Given the description of an element on the screen output the (x, y) to click on. 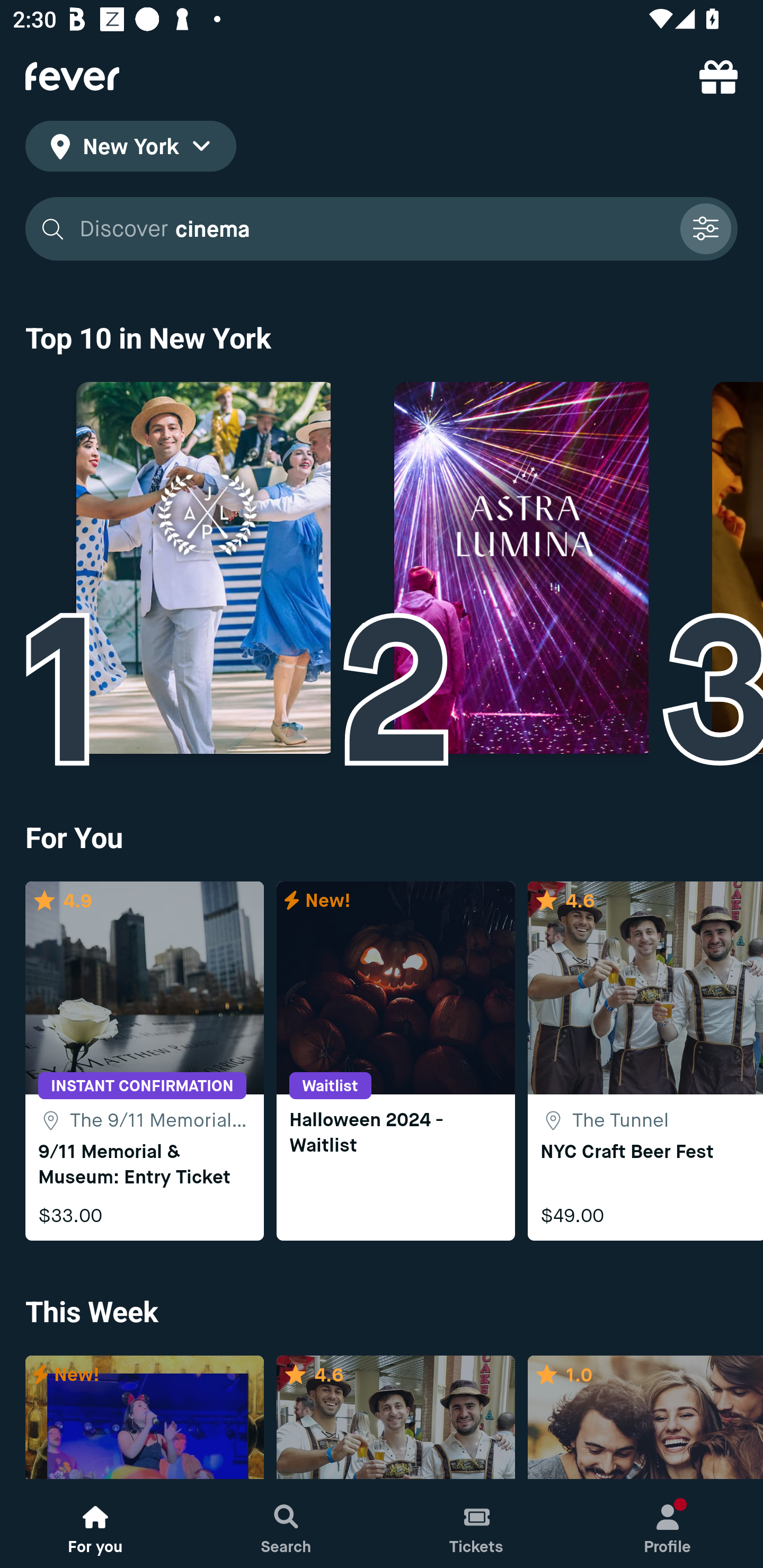
referral (718, 75)
location icon New York location icon (130, 149)
Discover cinema (381, 228)
Discover cinema (373, 228)
cover image New! label New! (144, 1417)
cover image 50.0 4.6 (395, 1417)
cover image 50.0 1.0 (645, 1417)
Search (285, 1523)
Tickets (476, 1523)
Profile, New notification Profile (667, 1523)
